Given the description of an element on the screen output the (x, y) to click on. 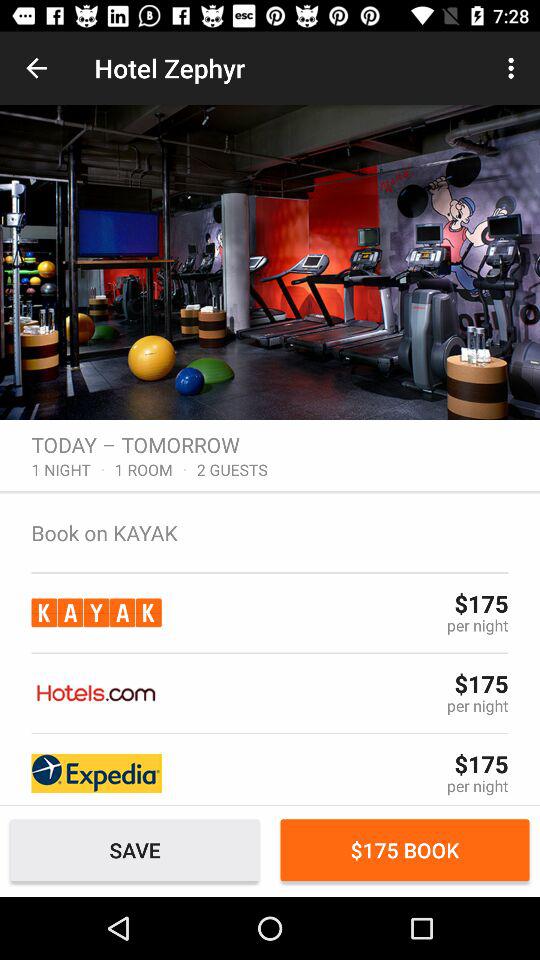
flip to the $175 book item (404, 850)
